Given the description of an element on the screen output the (x, y) to click on. 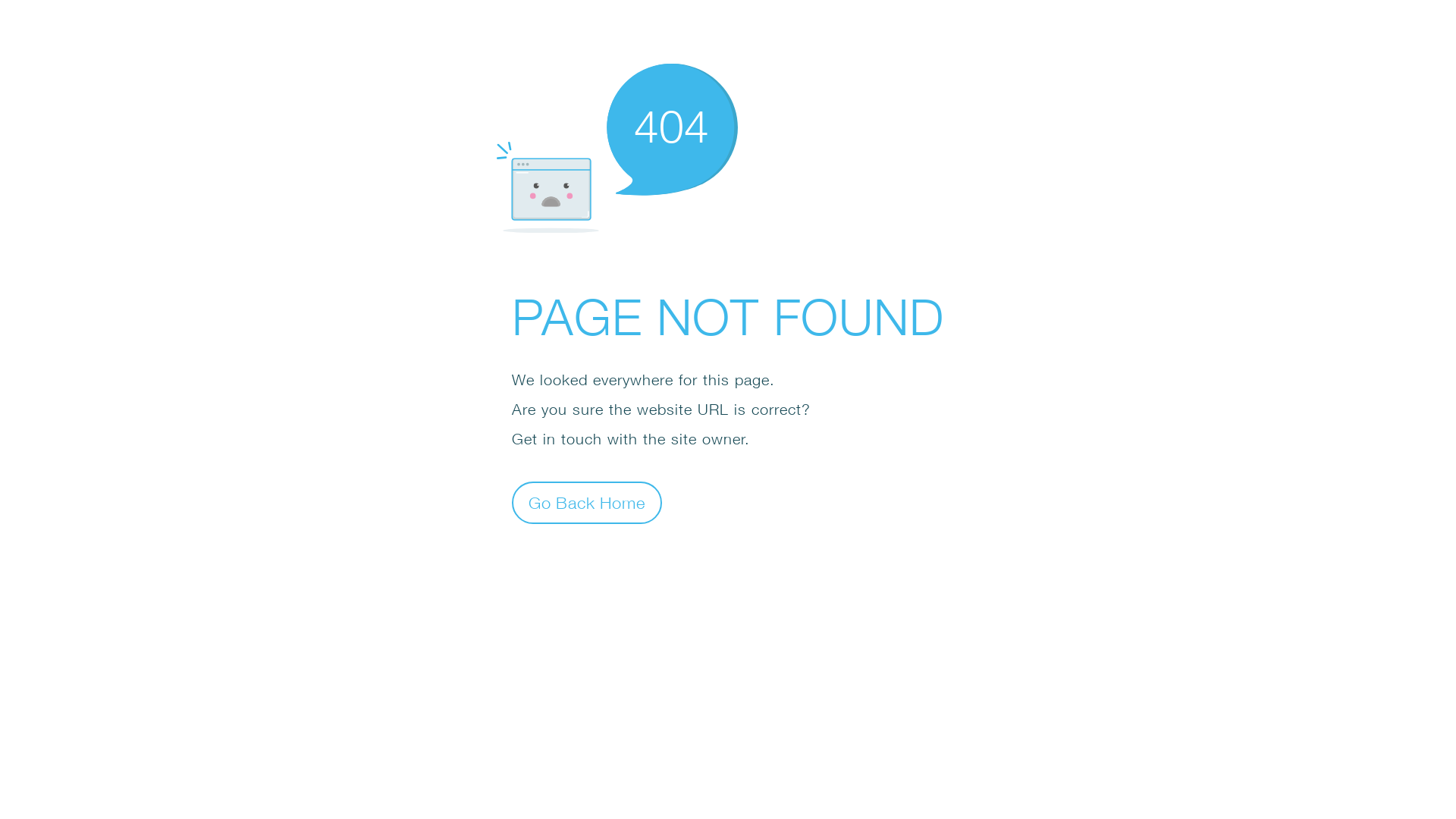
Go Back Home Element type: text (586, 502)
